Given the description of an element on the screen output the (x, y) to click on. 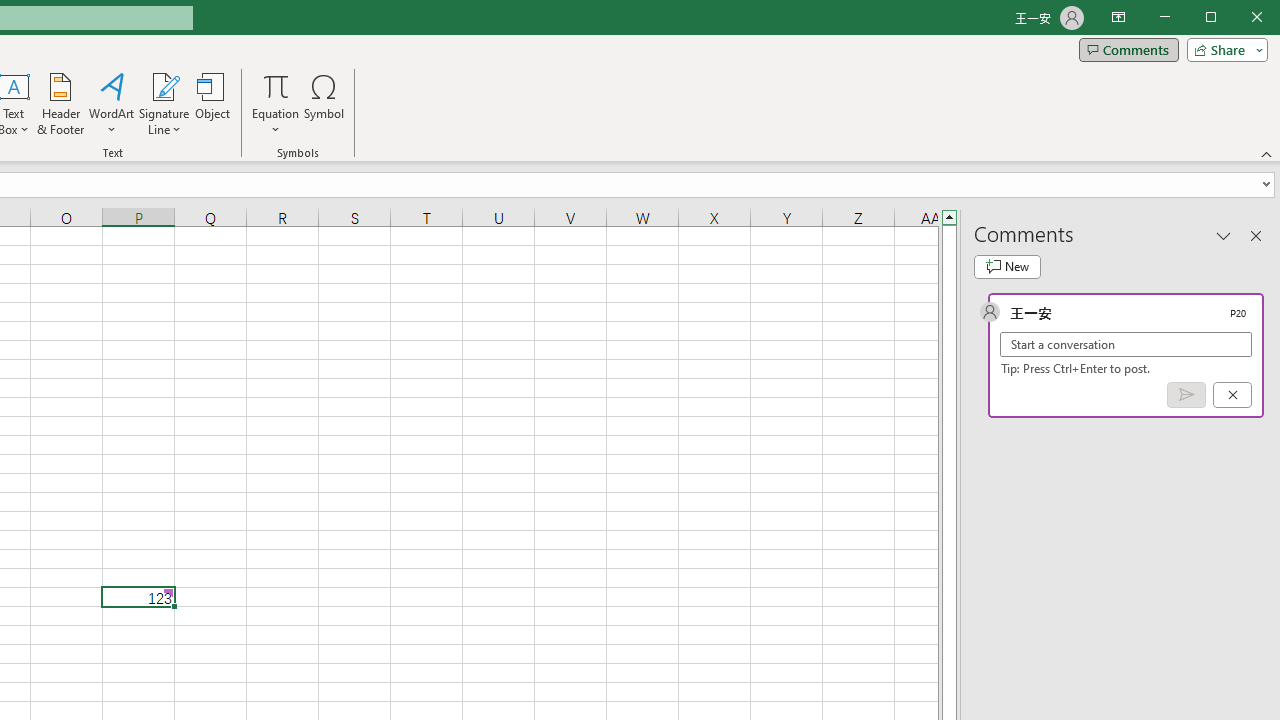
Maximize (1239, 18)
Close pane (1256, 235)
Signature Line (164, 104)
Start a conversation (1126, 344)
Signature Line (164, 86)
Header & Footer... (60, 104)
